Given the description of an element on the screen output the (x, y) to click on. 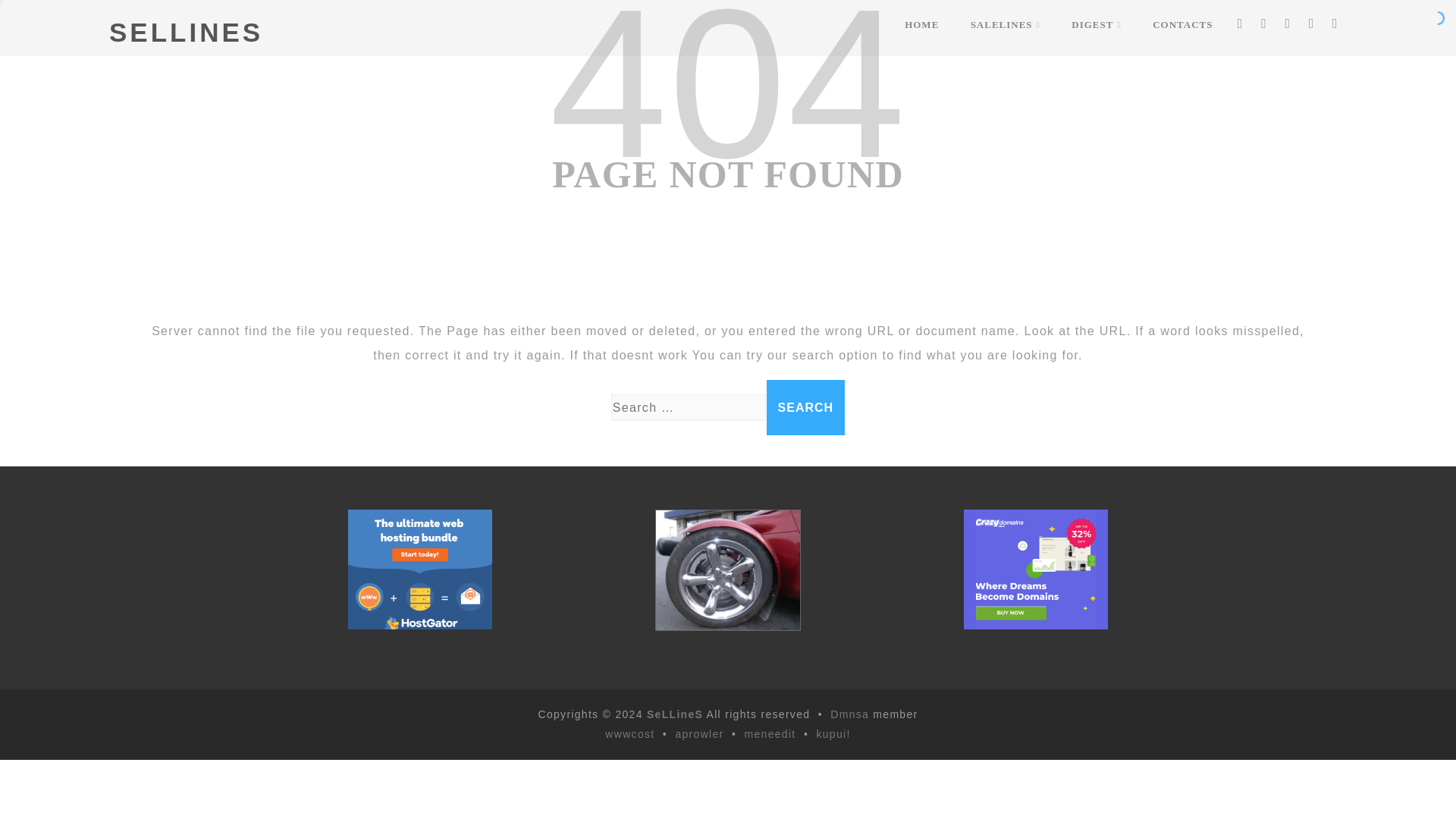
aprowler (699, 734)
wwwcost (629, 734)
HOME (921, 24)
kupui! (832, 734)
404 (726, 100)
CONTACTS (1182, 24)
Dmnsa (850, 714)
Search (806, 407)
SeLLineS (674, 714)
SALELINES (1005, 24)
